Given the description of an element on the screen output the (x, y) to click on. 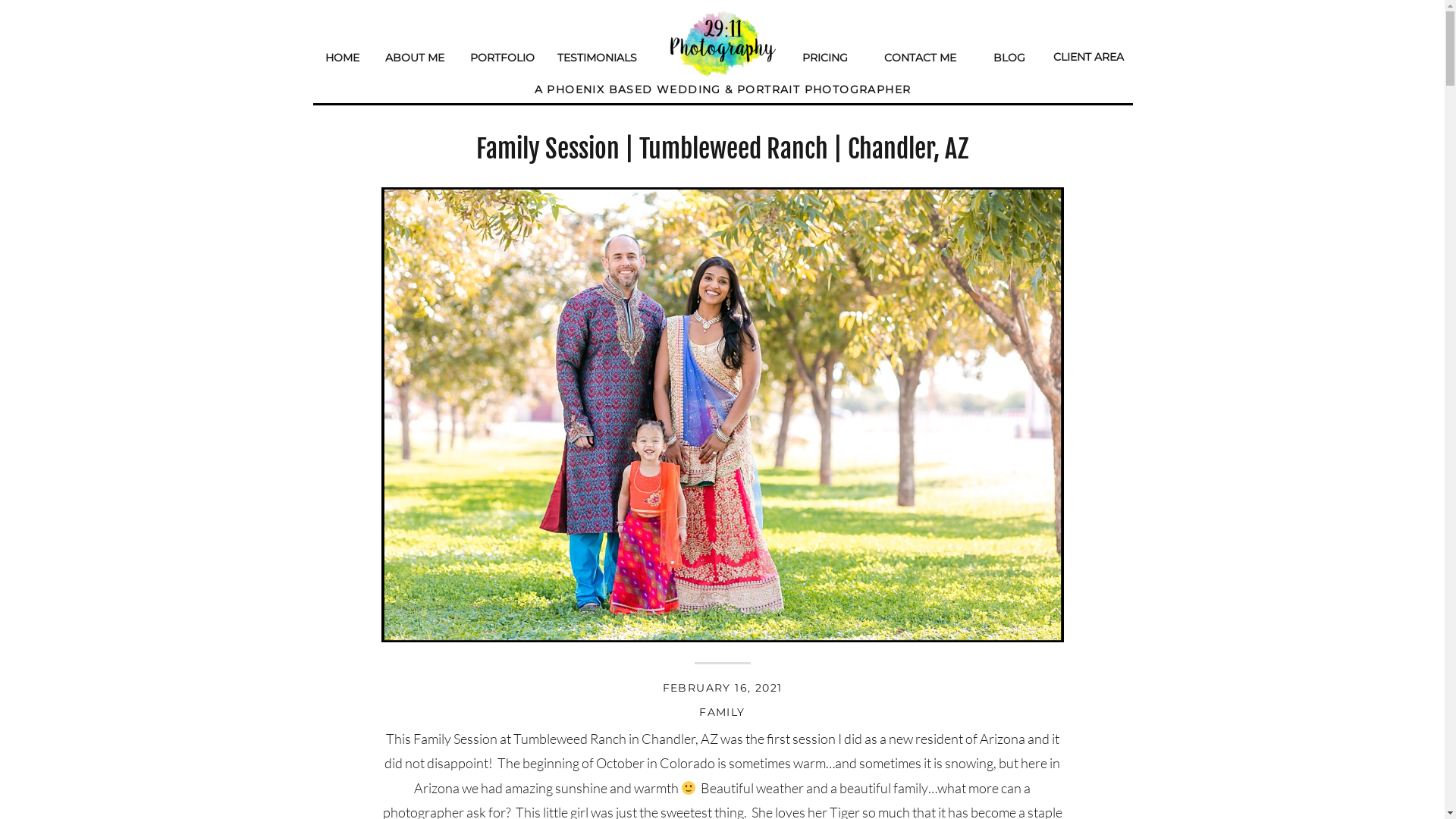
ABOUT ME Element type: text (416, 54)
PRICING Element type: text (832, 54)
CLIENT AREA Element type: text (1090, 54)
BLOG Element type: text (1007, 54)
PORTFOLIO Element type: text (503, 54)
HOME Element type: text (344, 54)
TESTIMONIALS Element type: text (596, 54)
FAMILY Element type: text (721, 711)
CONTACT ME Element type: text (924, 54)
